Given the description of an element on the screen output the (x, y) to click on. 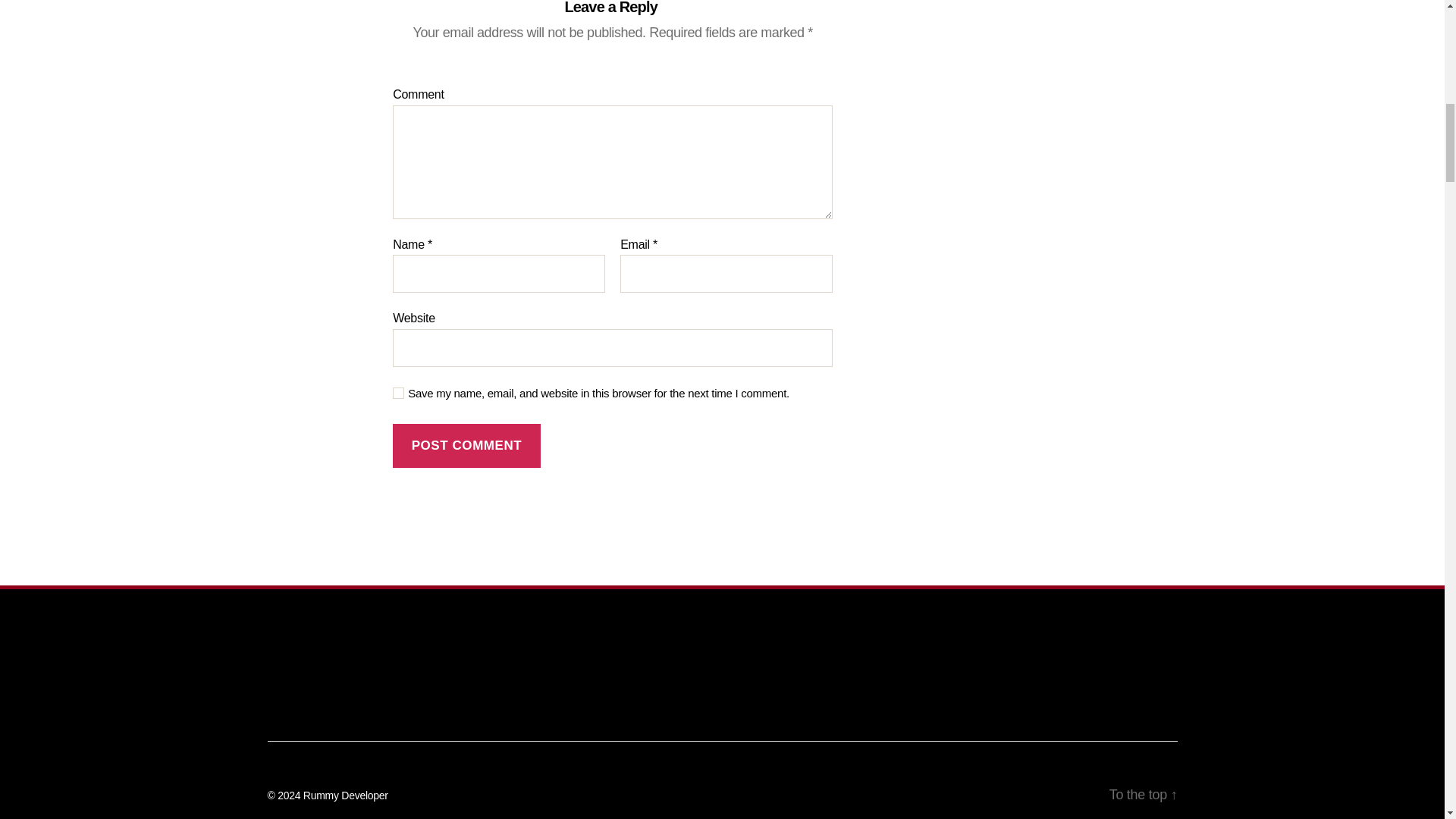
yes (398, 392)
Post Comment (466, 446)
Post Comment (466, 446)
